Given the description of an element on the screen output the (x, y) to click on. 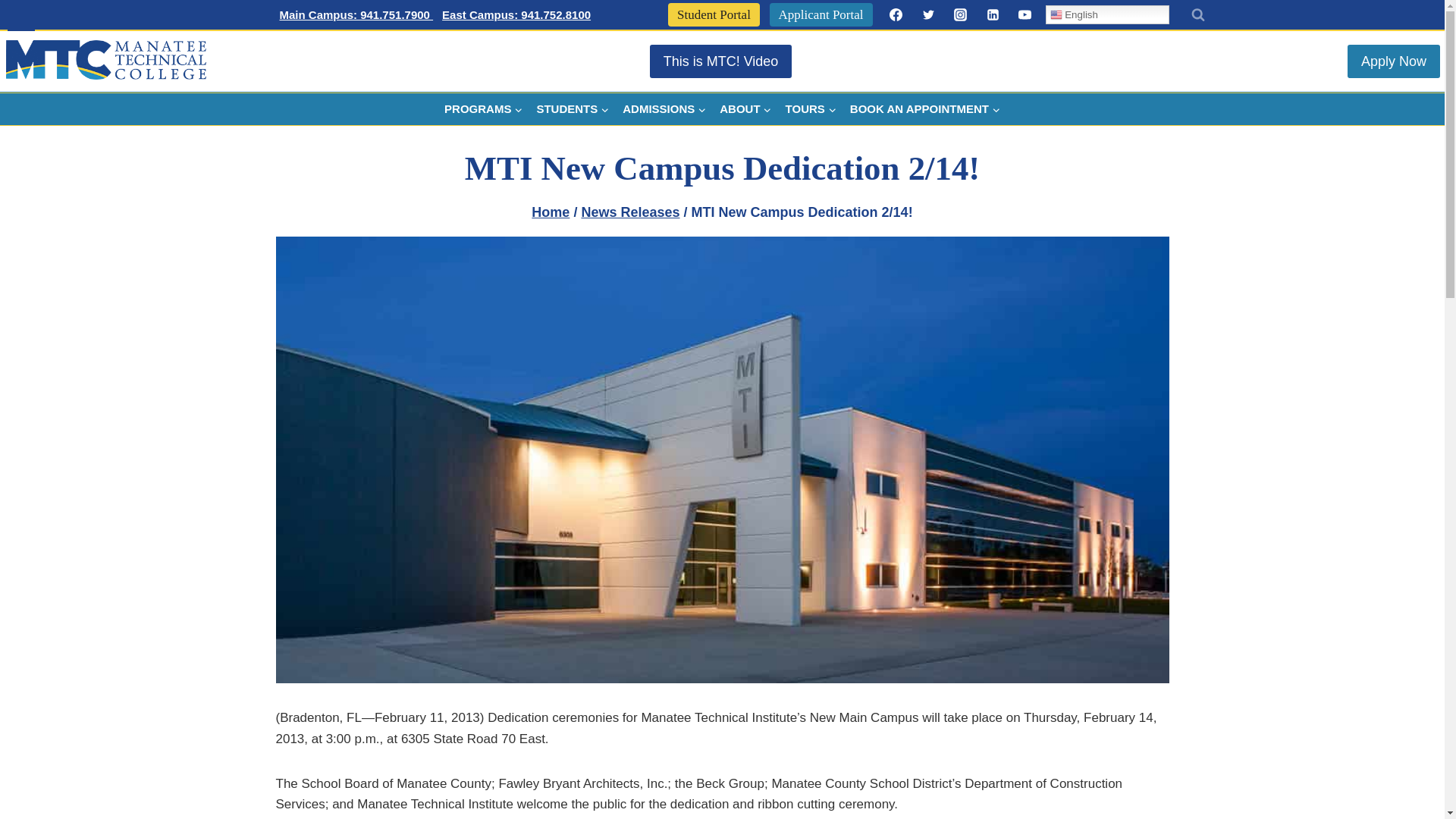
Applicant Portal (821, 14)
East Campus: 941.752.8100 (516, 14)
Main Campus: 941.751.7900  (356, 14)
Student Portal (714, 14)
English (1107, 14)
